Given the description of an element on the screen output the (x, y) to click on. 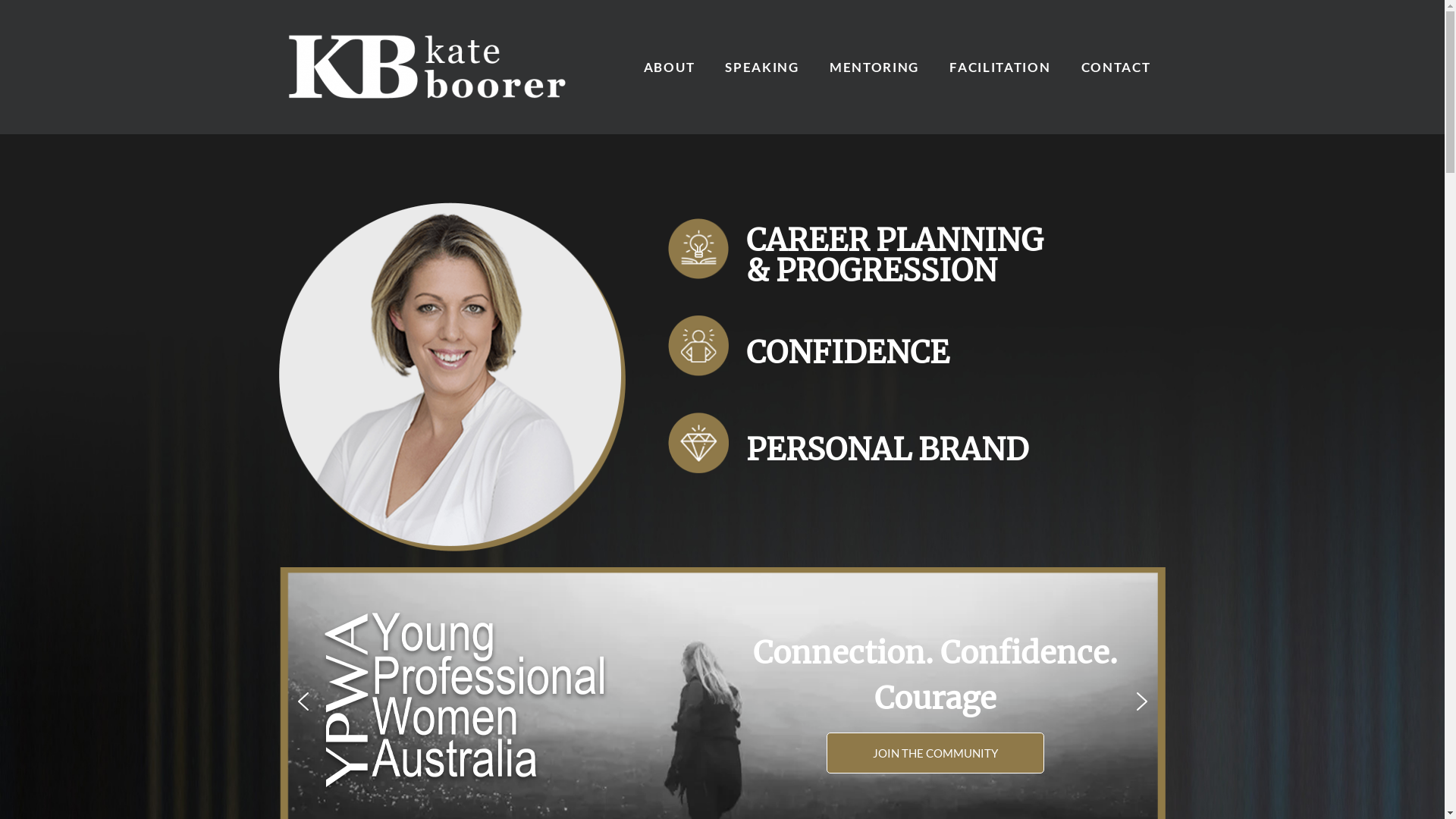
JOIN THE COMMUNITY Element type: text (935, 753)
FACILITATION Element type: text (999, 67)
CONTACT Element type: text (1116, 67)
SPEAKING Element type: text (761, 67)
MENTORING Element type: text (874, 67)
Kate Boorer Element type: hover (430, 67)
ABOUT Element type: text (669, 67)
Skip to primary navigation Element type: text (0, 134)
